Given the description of an element on the screen output the (x, y) to click on. 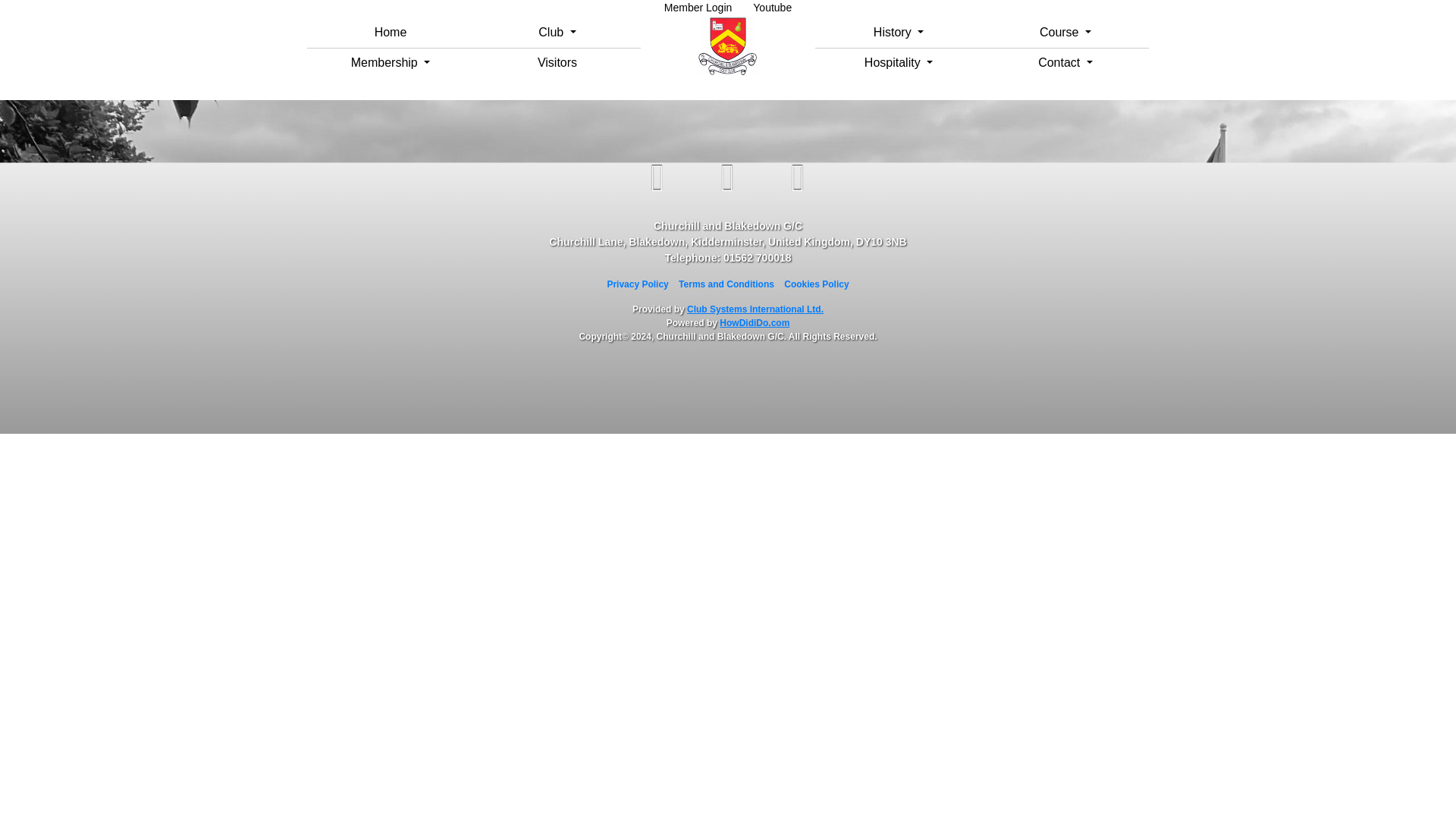
Terms and Conditions (726, 284)
History (898, 32)
Hospitality (898, 62)
here (858, 59)
Contact (1064, 62)
Youtube (771, 8)
Club (557, 32)
Membership (390, 62)
Member Login (698, 8)
Course (1064, 32)
